Given the description of an element on the screen output the (x, y) to click on. 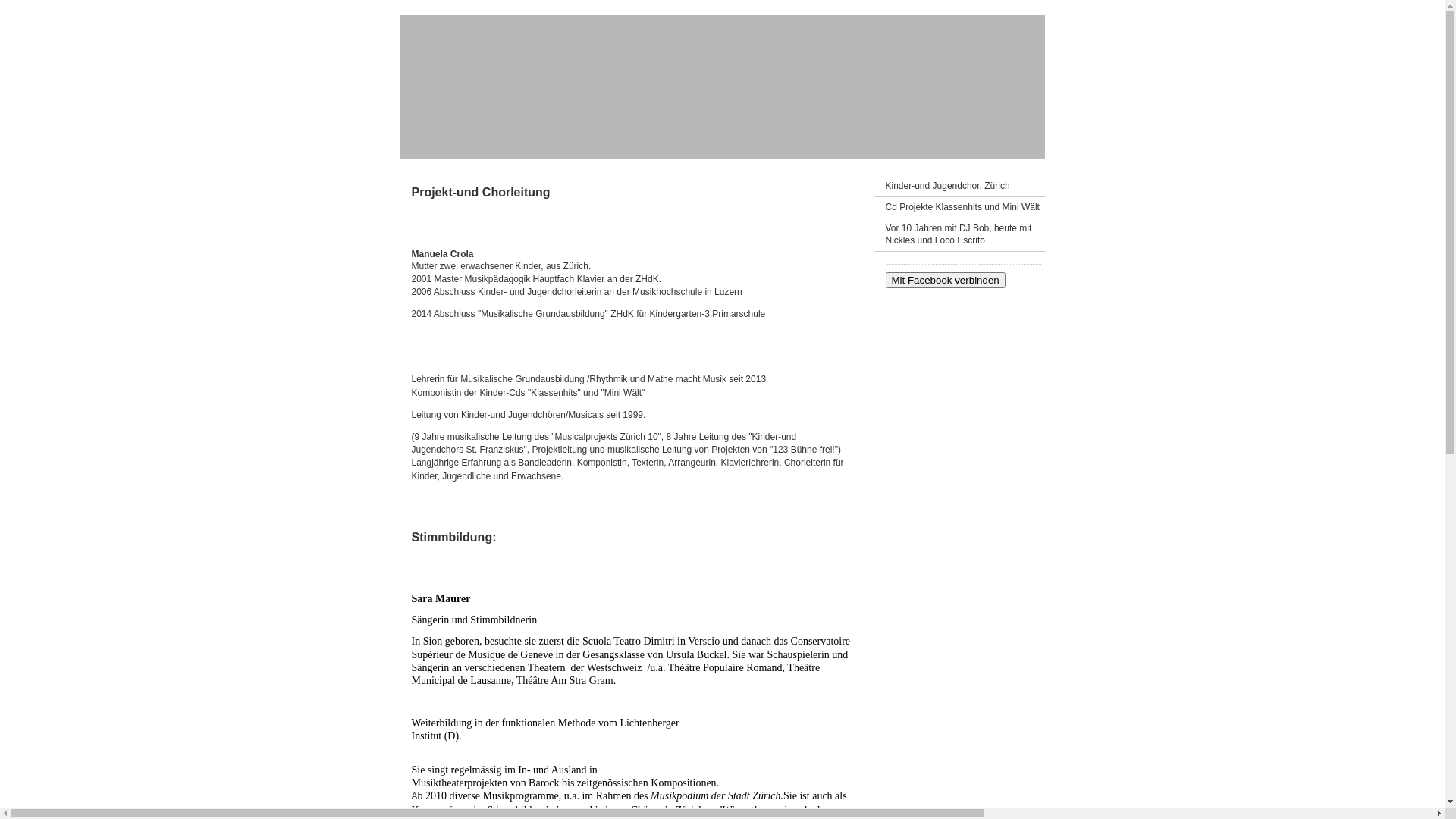
Vor 10 Jahren mit DJ Bob, heute mit Nickles und Loco Escrito Element type: text (958, 235)
Mit Facebook verbinden Element type: text (945, 280)
